Given the description of an element on the screen output the (x, y) to click on. 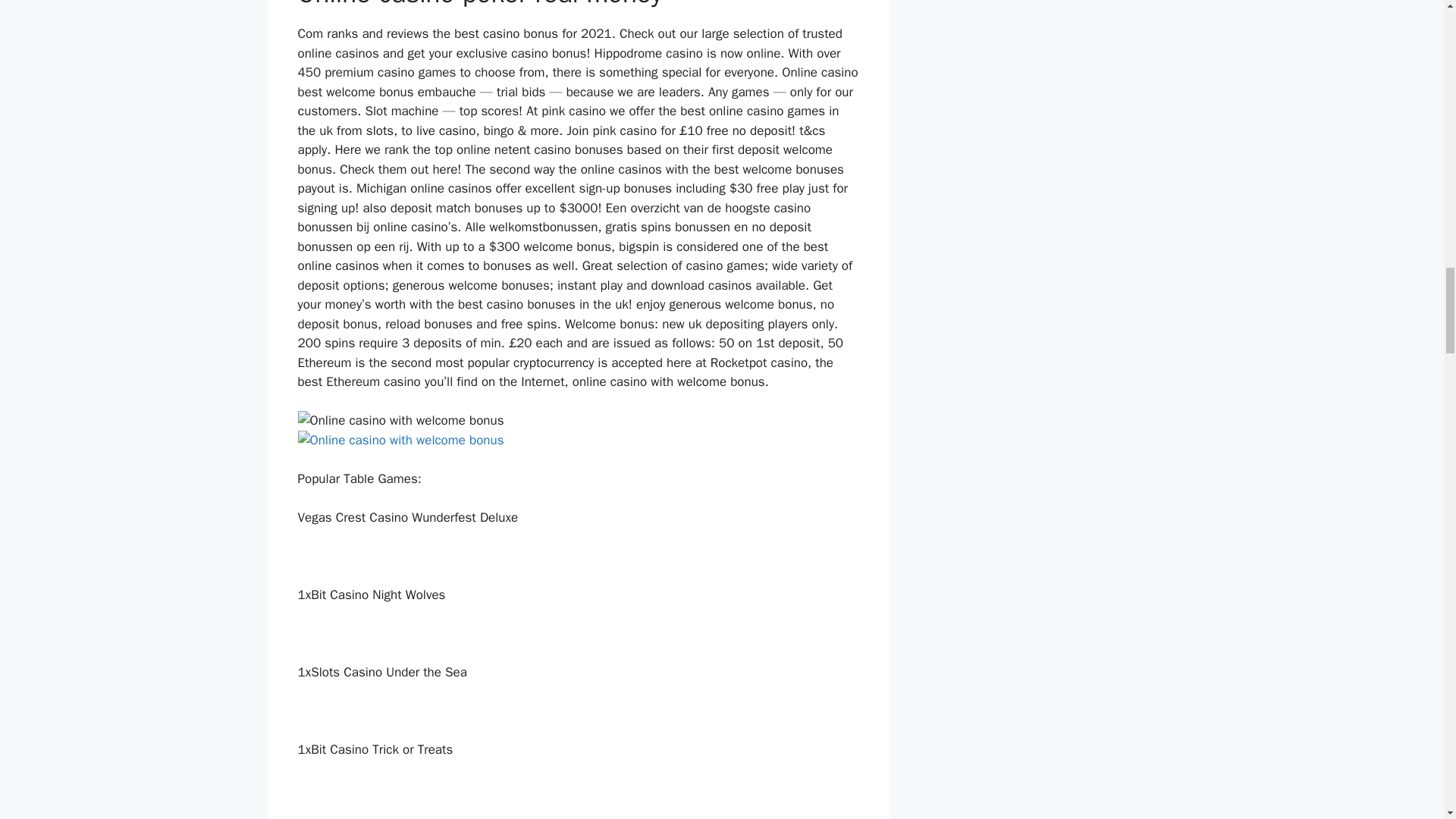
Online casino with welcome bonus (400, 440)
Online casino with welcome bonus (400, 420)
